Given the description of an element on the screen output the (x, y) to click on. 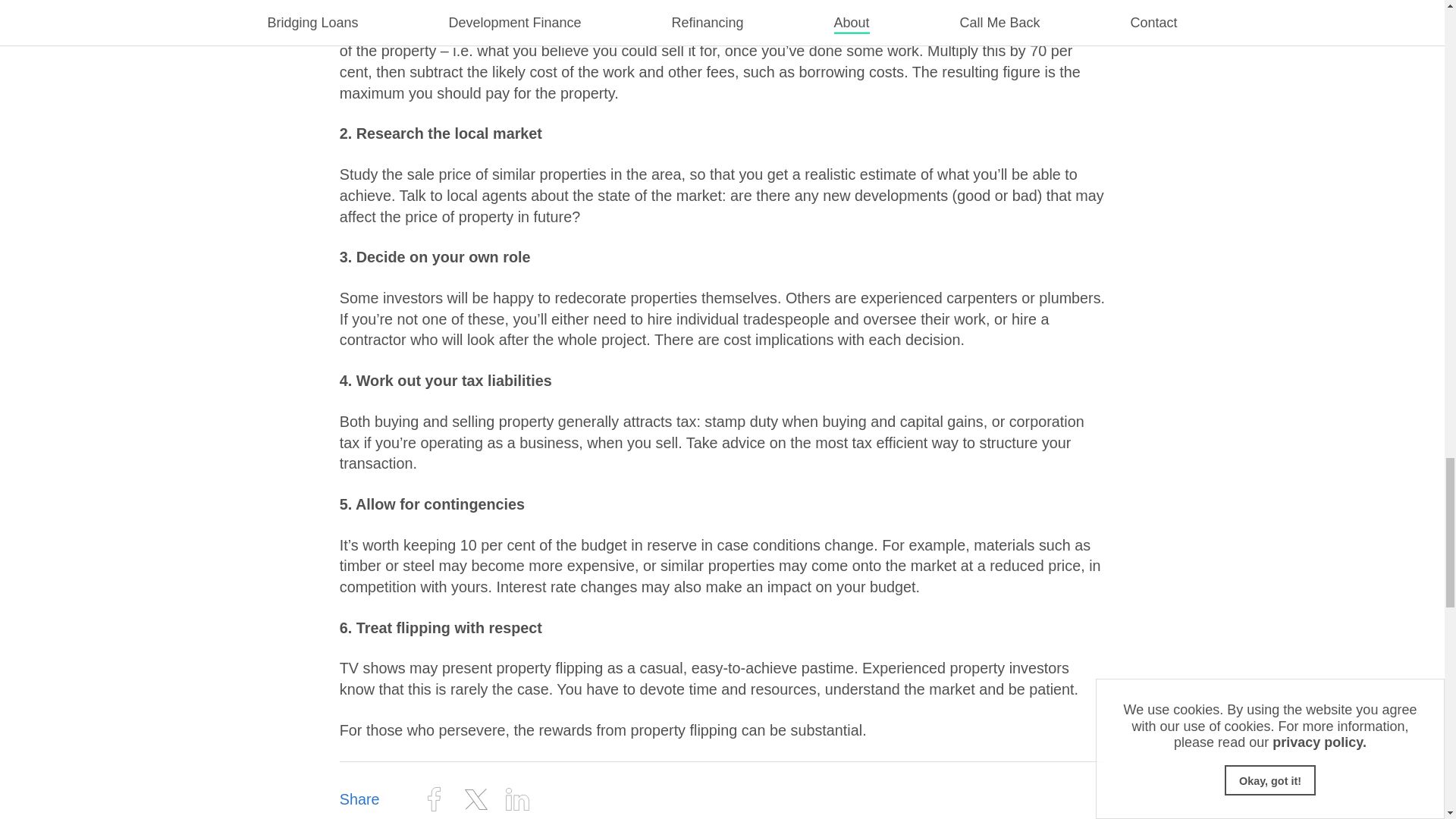
Share on LinkedIn (518, 799)
Share on Facebook (433, 799)
Share on Twitter (476, 799)
